Given the description of an element on the screen output the (x, y) to click on. 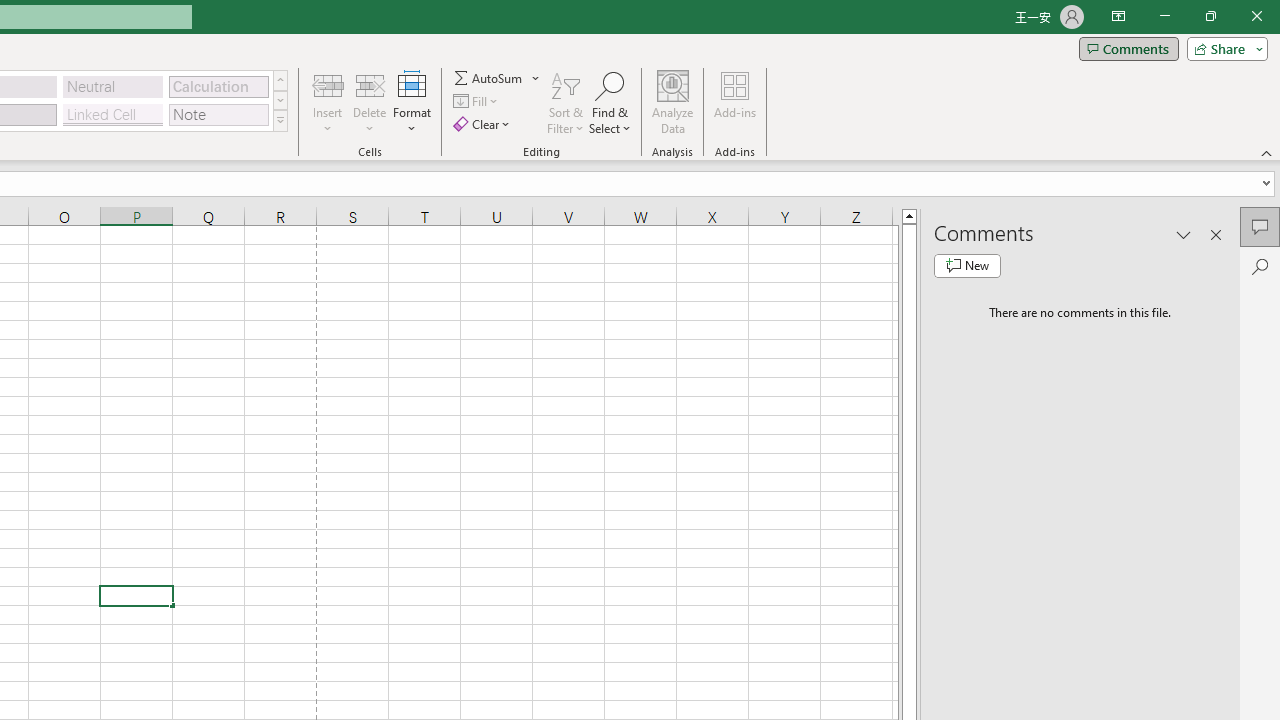
Sum (489, 78)
Note (218, 114)
Find & Select (610, 102)
Neutral (113, 86)
Delete Cells... (369, 84)
Sort & Filter (566, 102)
